Given the description of an element on the screen output the (x, y) to click on. 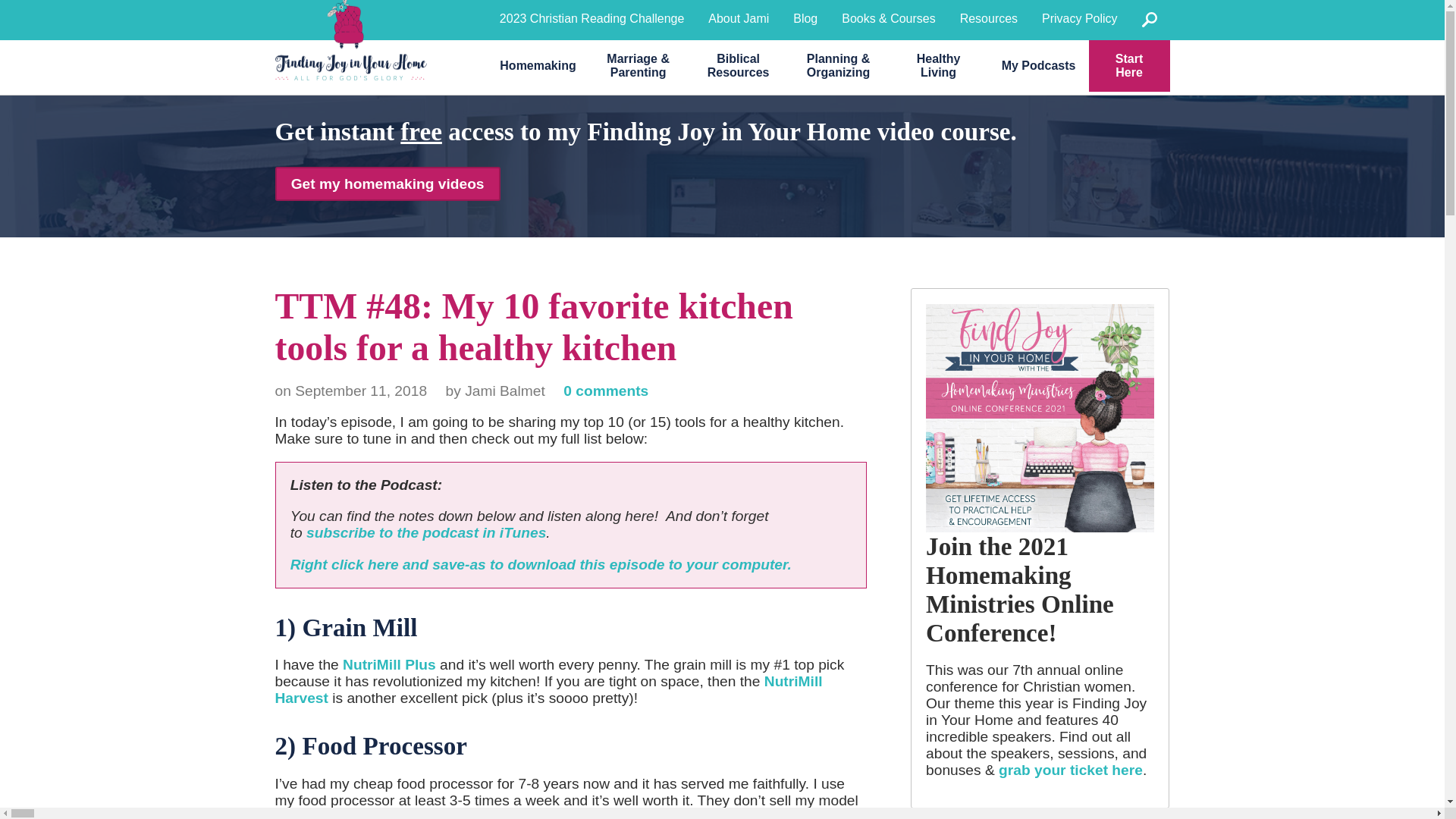
Biblical Resources (738, 65)
About Jami (737, 18)
2023 Christian Reading Challenge (591, 18)
NutriMill Plus (388, 664)
Blog (804, 18)
Resources (988, 18)
Healthy Living (938, 65)
this one is similar (425, 814)
NutriMill Harvest (548, 689)
0 comments (605, 390)
